Given the description of an element on the screen output the (x, y) to click on. 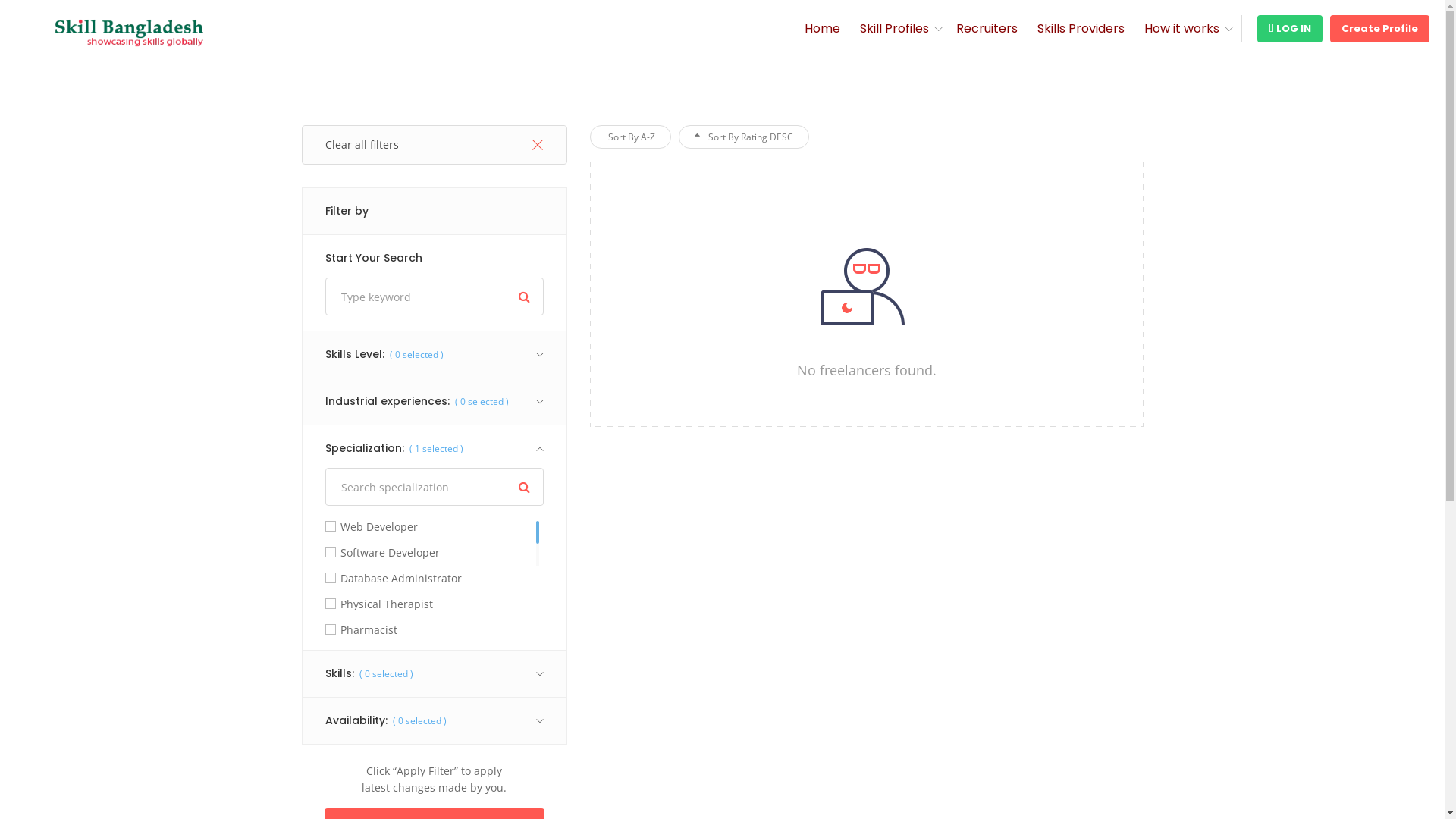
Recruiters Element type: text (986, 28)
Create Profile Element type: text (1379, 28)
Clear all filters Element type: text (434, 144)
 LOG IN Element type: text (1289, 28)
Skill Profiles Element type: text (894, 28)
How it works Element type: text (1181, 28)
Home Element type: text (822, 28)
Skills Providers Element type: text (1080, 28)
